Given the description of an element on the screen output the (x, y) to click on. 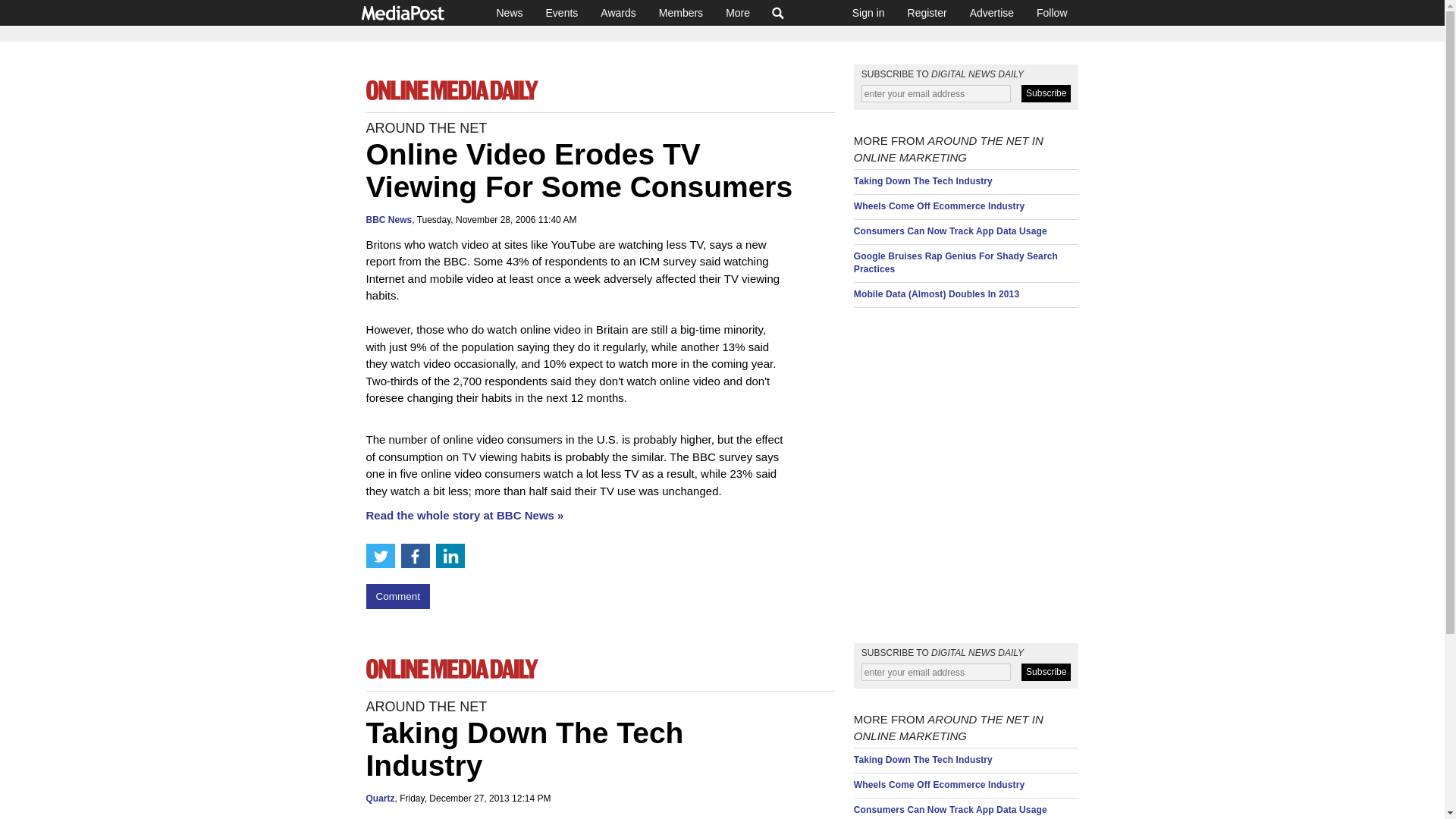
Subscribe (1046, 93)
Share on LinkedIn (449, 555)
Share on Facebook (414, 555)
News (509, 12)
Subscribe (1046, 671)
Share on Twitter (379, 555)
